Given the description of an element on the screen output the (x, y) to click on. 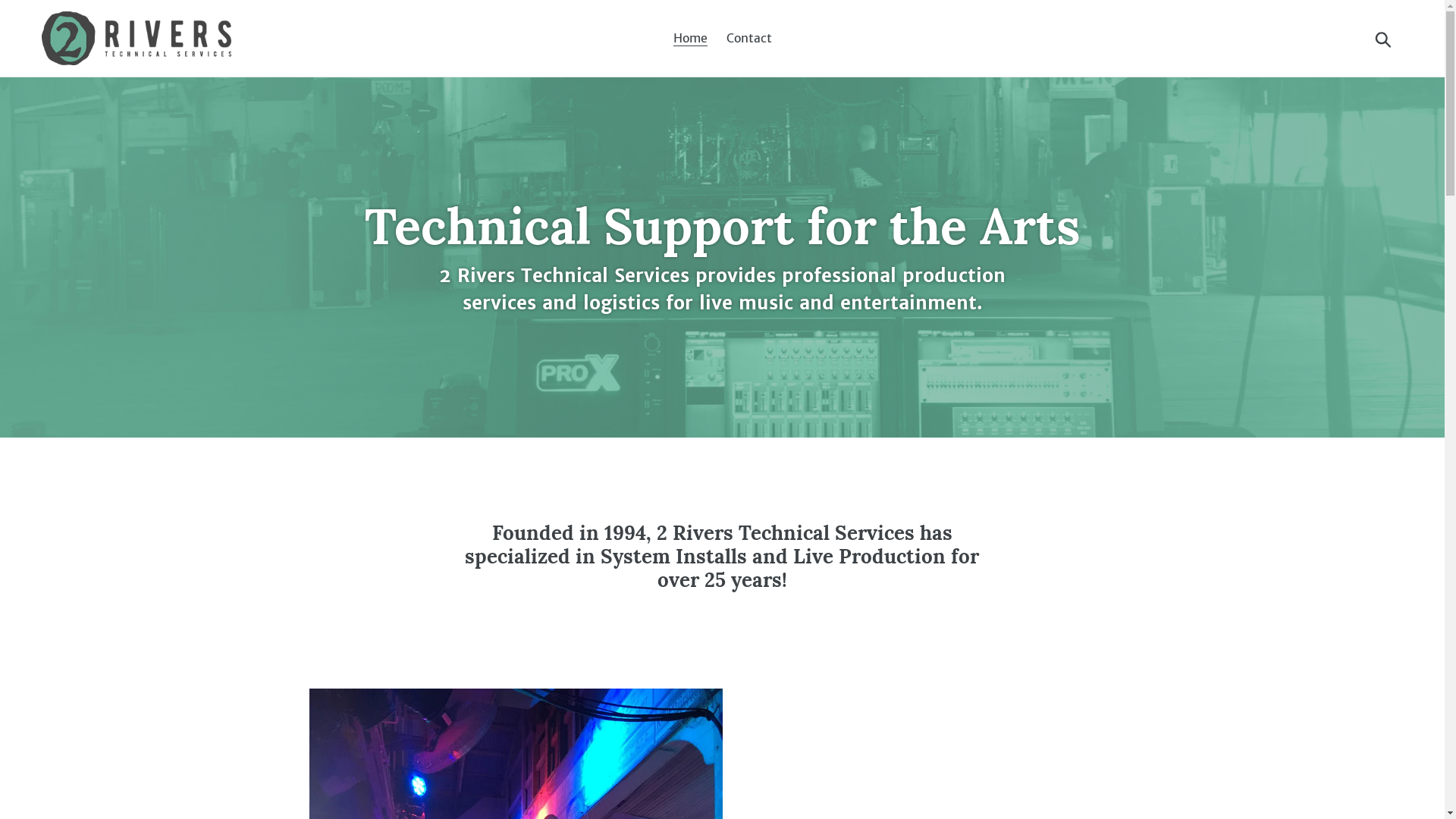
Home Element type: text (690, 37)
Submit Element type: text (1383, 37)
Contact Element type: text (748, 37)
